Given the description of an element on the screen output the (x, y) to click on. 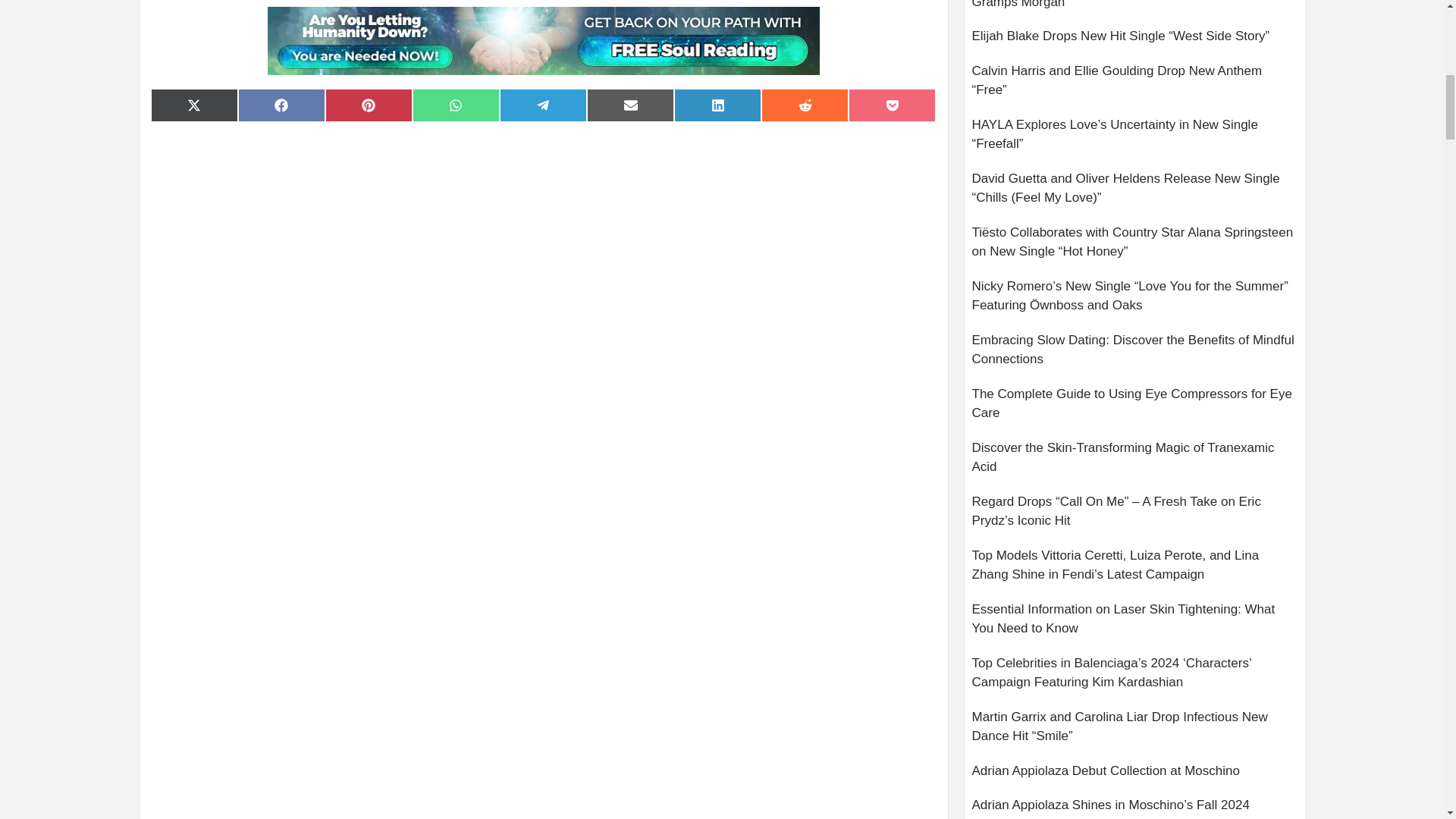
Share on Telegram (542, 105)
Share on WhatsApp (455, 105)
Share on Pinterest (368, 105)
Share on Reddit (804, 105)
Share on Pocket (892, 105)
Share on Facebook (281, 105)
Share on Email (630, 105)
Share on LinkedIn (717, 105)
